Given the description of an element on the screen output the (x, y) to click on. 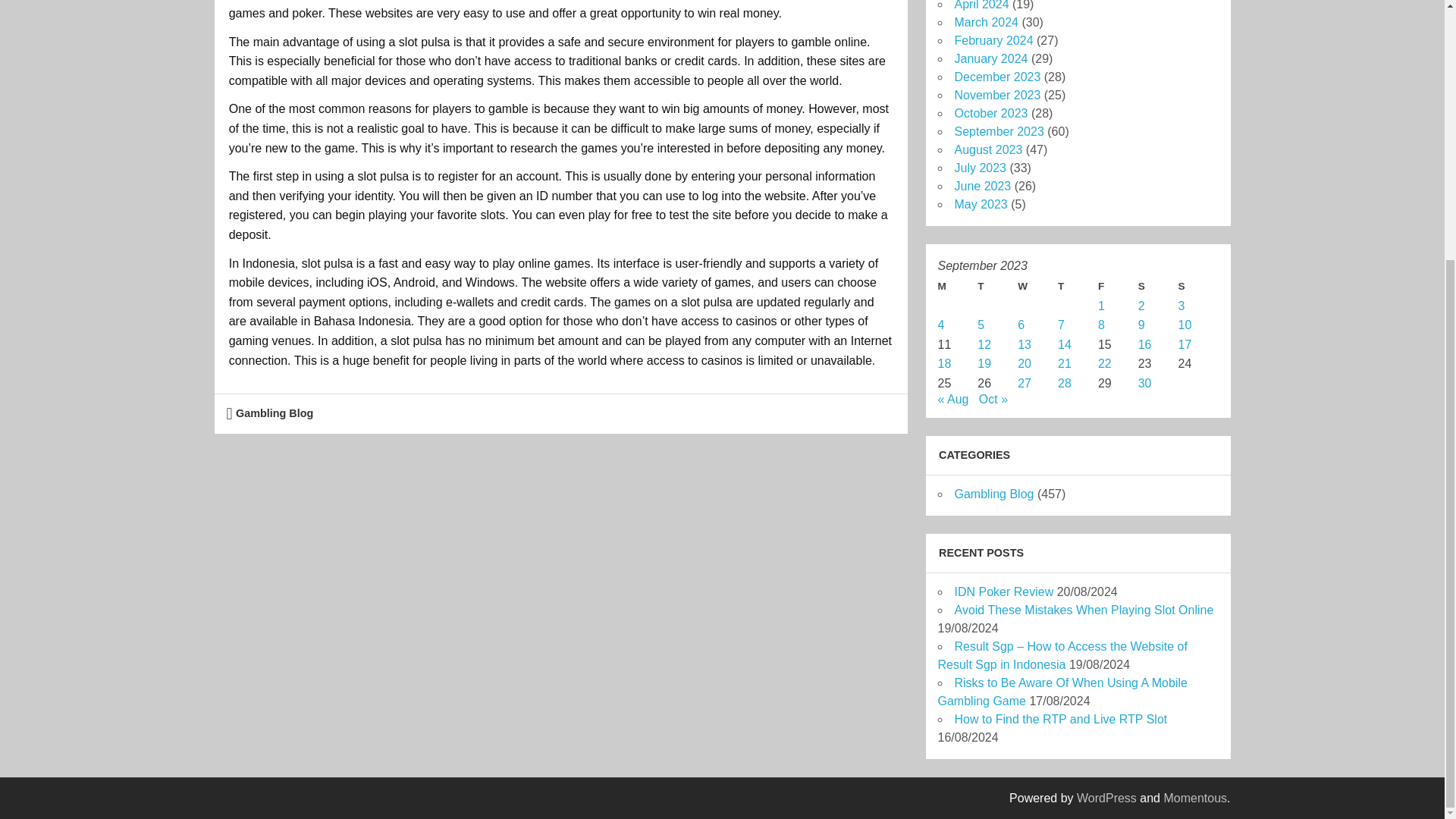
10 (1184, 324)
Momentous WordPress Theme (1195, 797)
18 (943, 363)
Saturday (1157, 286)
March 2024 (985, 21)
Thursday (1077, 286)
December 2023 (997, 76)
May 2023 (980, 204)
September 2023 (998, 131)
April 2024 (981, 5)
